Given the description of an element on the screen output the (x, y) to click on. 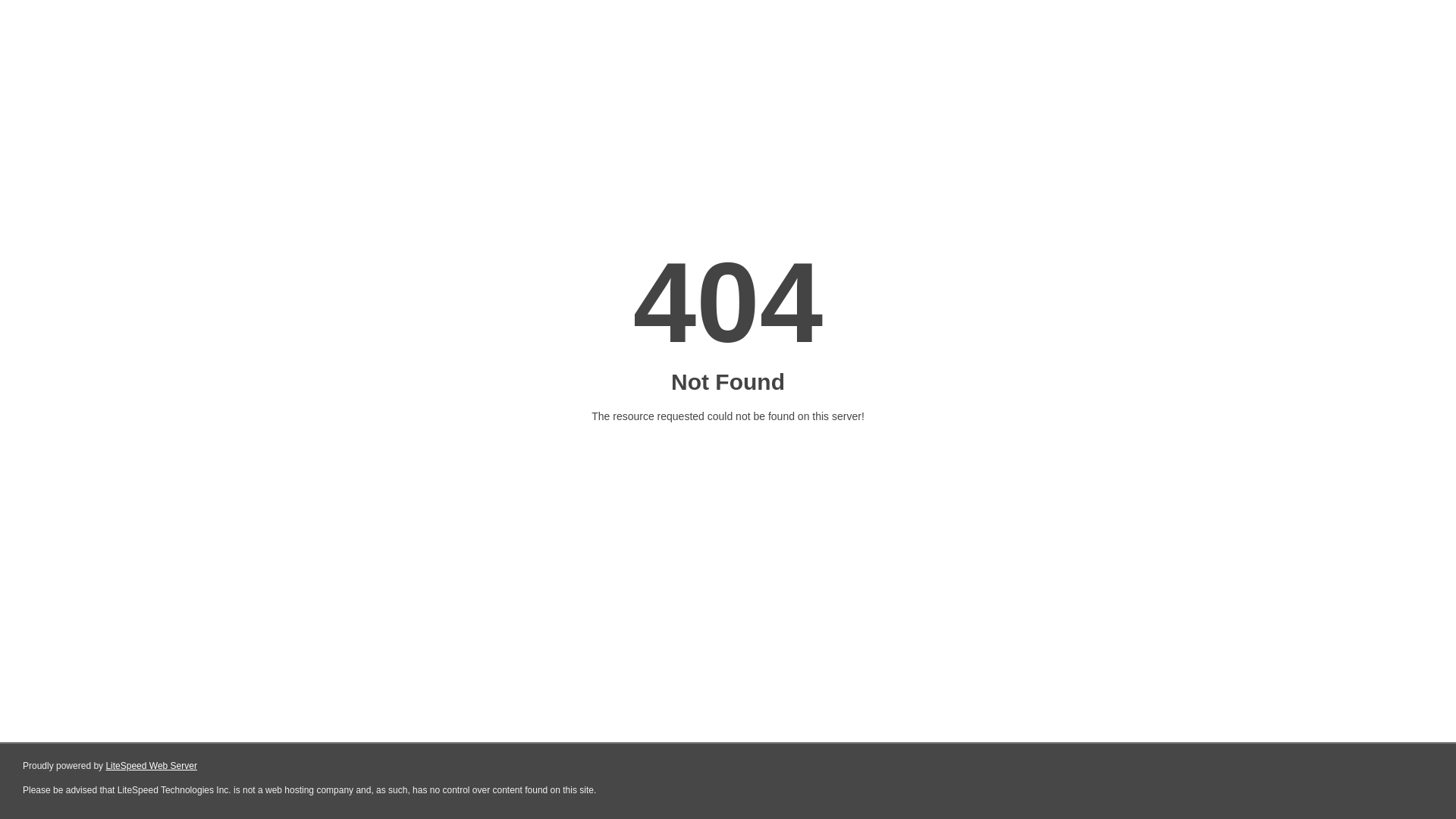
LiteSpeed Web Server Element type: text (151, 765)
